Given the description of an element on the screen output the (x, y) to click on. 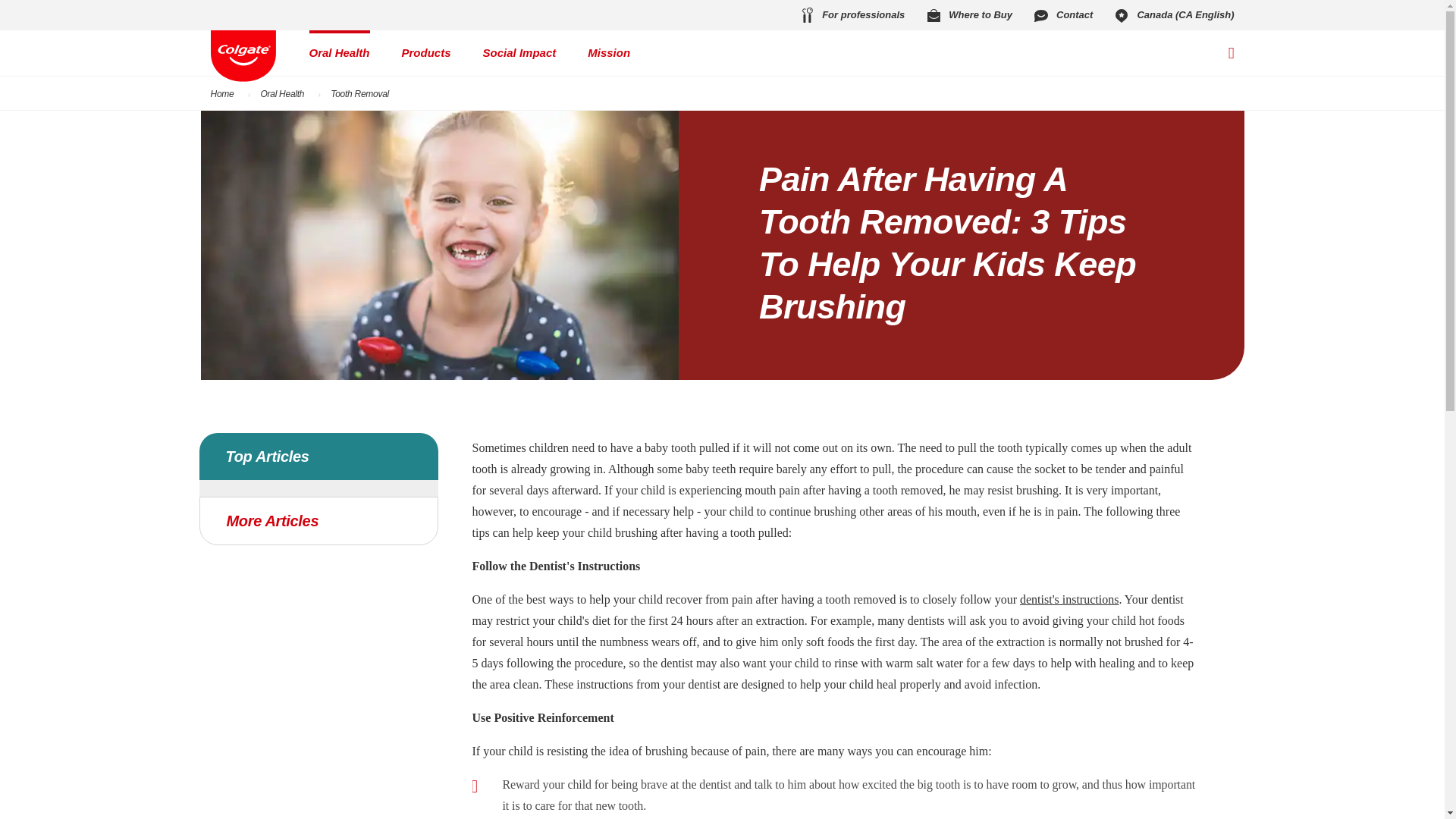
home (243, 55)
Location icon (1121, 15)
For professionals icon (806, 15)
Oral Health (338, 52)
Where to Buy icon (933, 15)
Contact (1062, 14)
Where to Buy (967, 14)
Social Impact (519, 52)
Mission (609, 52)
Products (426, 52)
For professionals (850, 15)
Contact icon (1040, 15)
